Given the description of an element on the screen output the (x, y) to click on. 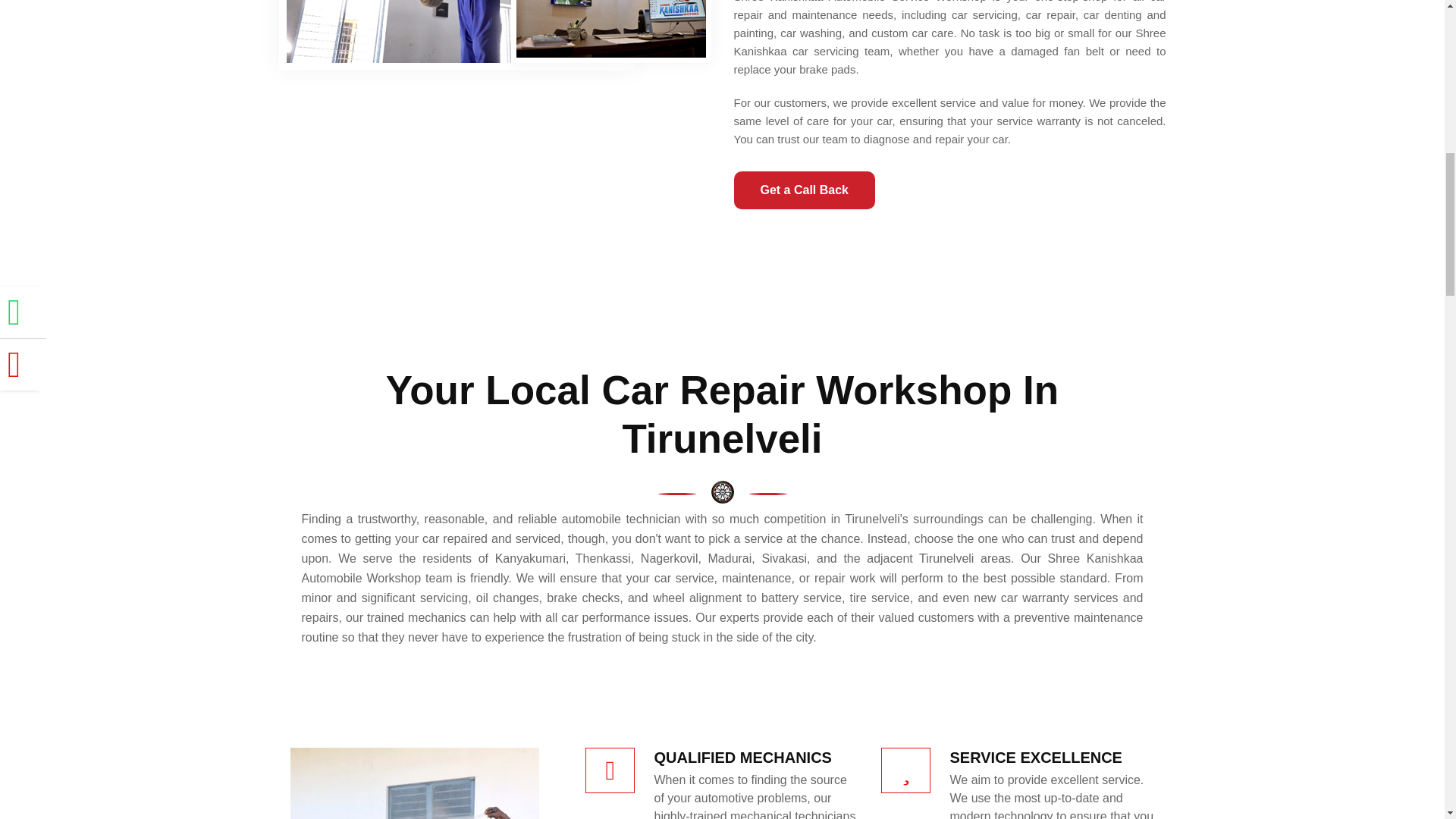
Get a Call Back (804, 190)
Book An Appointment with Shree Kanishkaa Motors (804, 190)
